Given the description of an element on the screen output the (x, y) to click on. 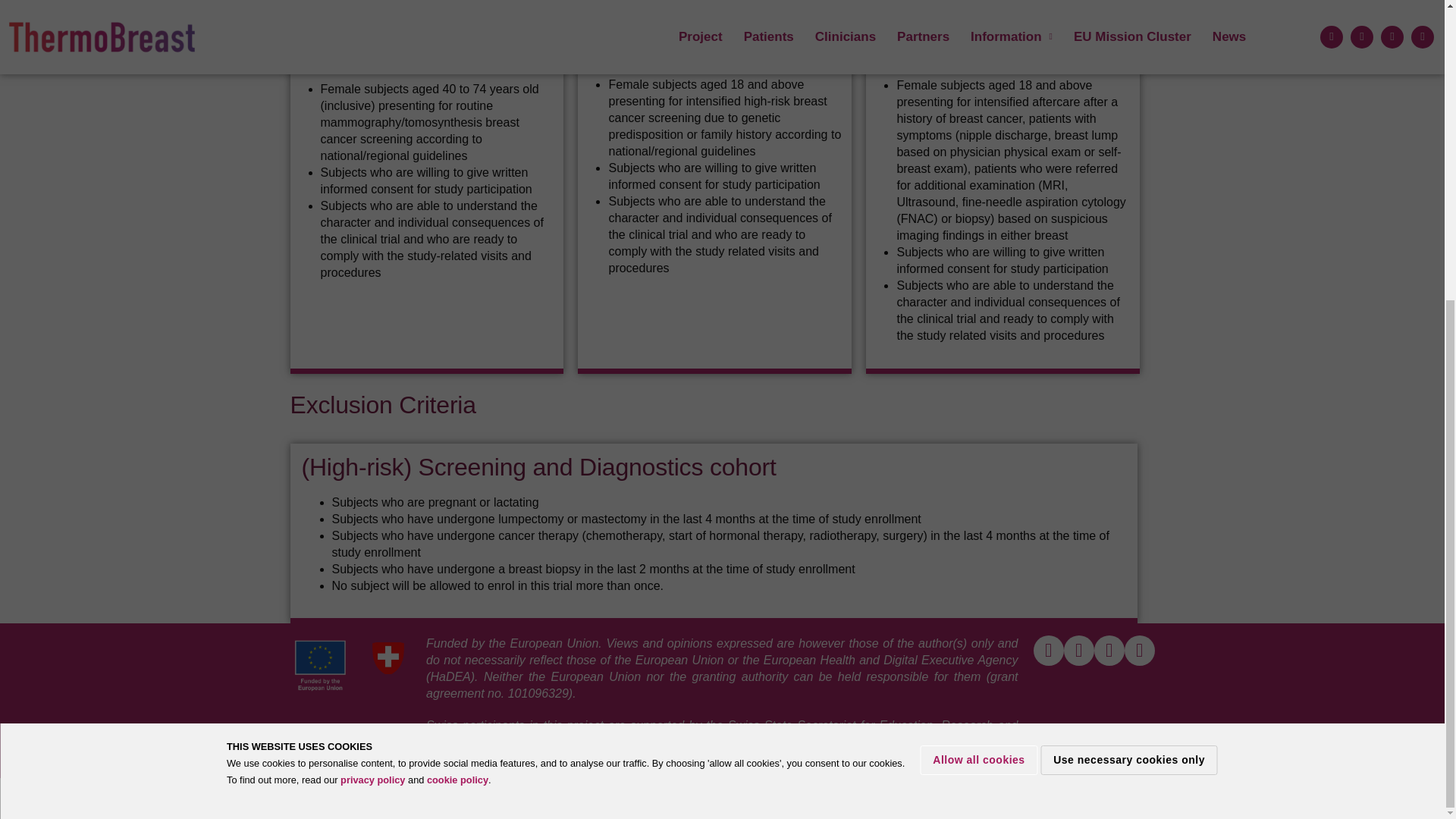
Use necessary cookies only (1129, 292)
privacy policy (372, 313)
cookie policy (456, 313)
Allow all cookies (978, 292)
